Given the description of an element on the screen output the (x, y) to click on. 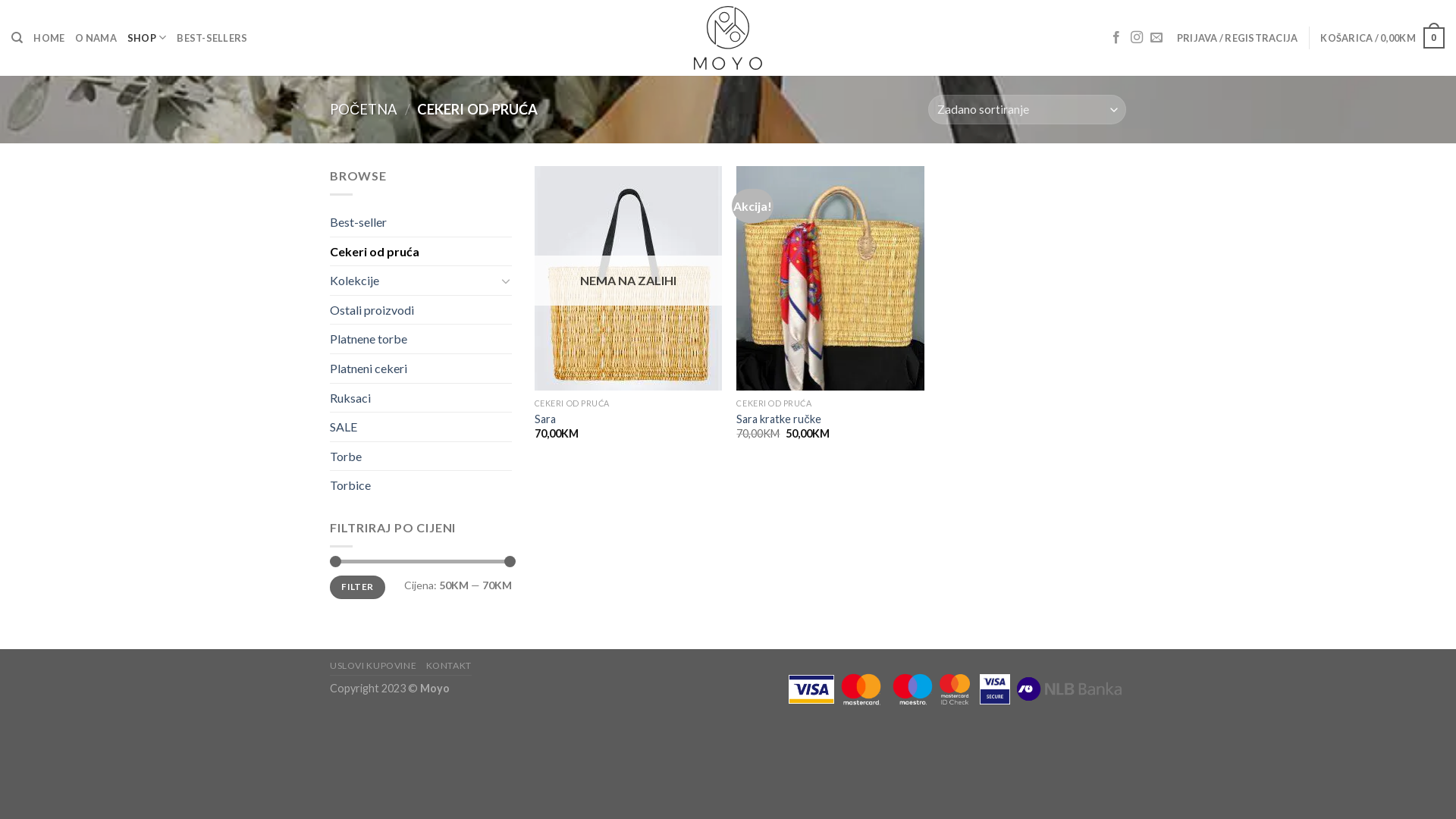
Platnene torbe Element type: text (420, 338)
PRIJAVA / REGISTRACIJA Element type: text (1237, 37)
Platneni cekeri Element type: text (420, 368)
USLOVI KUPOVINE Element type: text (372, 665)
SHOP Element type: text (146, 37)
SALE Element type: text (420, 426)
Skip to content Element type: text (0, 0)
Sara Element type: text (544, 419)
FILTER Element type: text (357, 587)
Kolekcije Element type: text (412, 280)
O NAMA Element type: text (95, 37)
Torbe Element type: text (420, 456)
Moyo - More than a bag Element type: hover (727, 37)
Ostali proizvodi Element type: text (420, 309)
Best-seller Element type: text (420, 221)
Torbice Element type: text (420, 484)
Ruksaci Element type: text (420, 397)
KONTAKT Element type: text (448, 665)
HOME Element type: text (48, 37)
BEST-SELLERS Element type: text (211, 37)
